Given the description of an element on the screen output the (x, y) to click on. 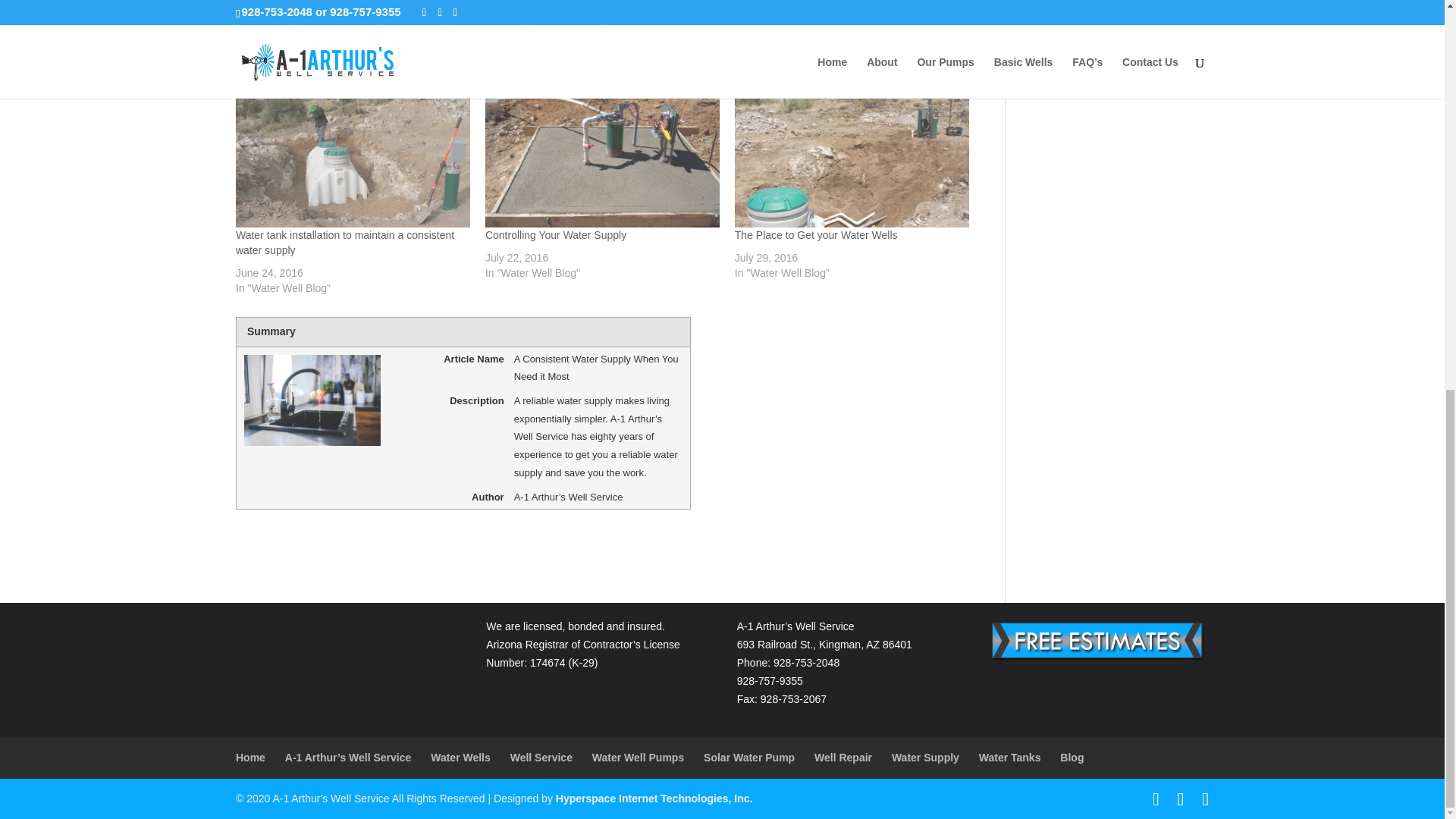
Email (264, 15)
The Place to Get your Water Wells (852, 160)
Facebook (338, 15)
Click to share on Pinterest (486, 15)
Twitter (413, 15)
Pinterest (486, 15)
Click to print (632, 15)
Controlling Your Water Supply (555, 234)
Print (632, 15)
Click to share on LinkedIn (564, 15)
Click to share on Twitter (413, 15)
Click to email a link to a friend (264, 15)
